Given the description of an element on the screen output the (x, y) to click on. 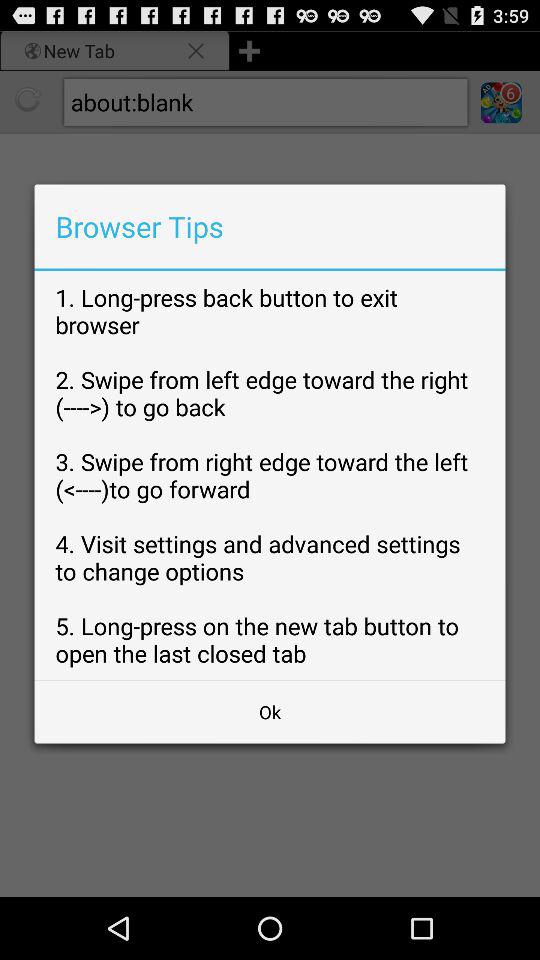
open the icon below the 1 long press (269, 711)
